Given the description of an element on the screen output the (x, y) to click on. 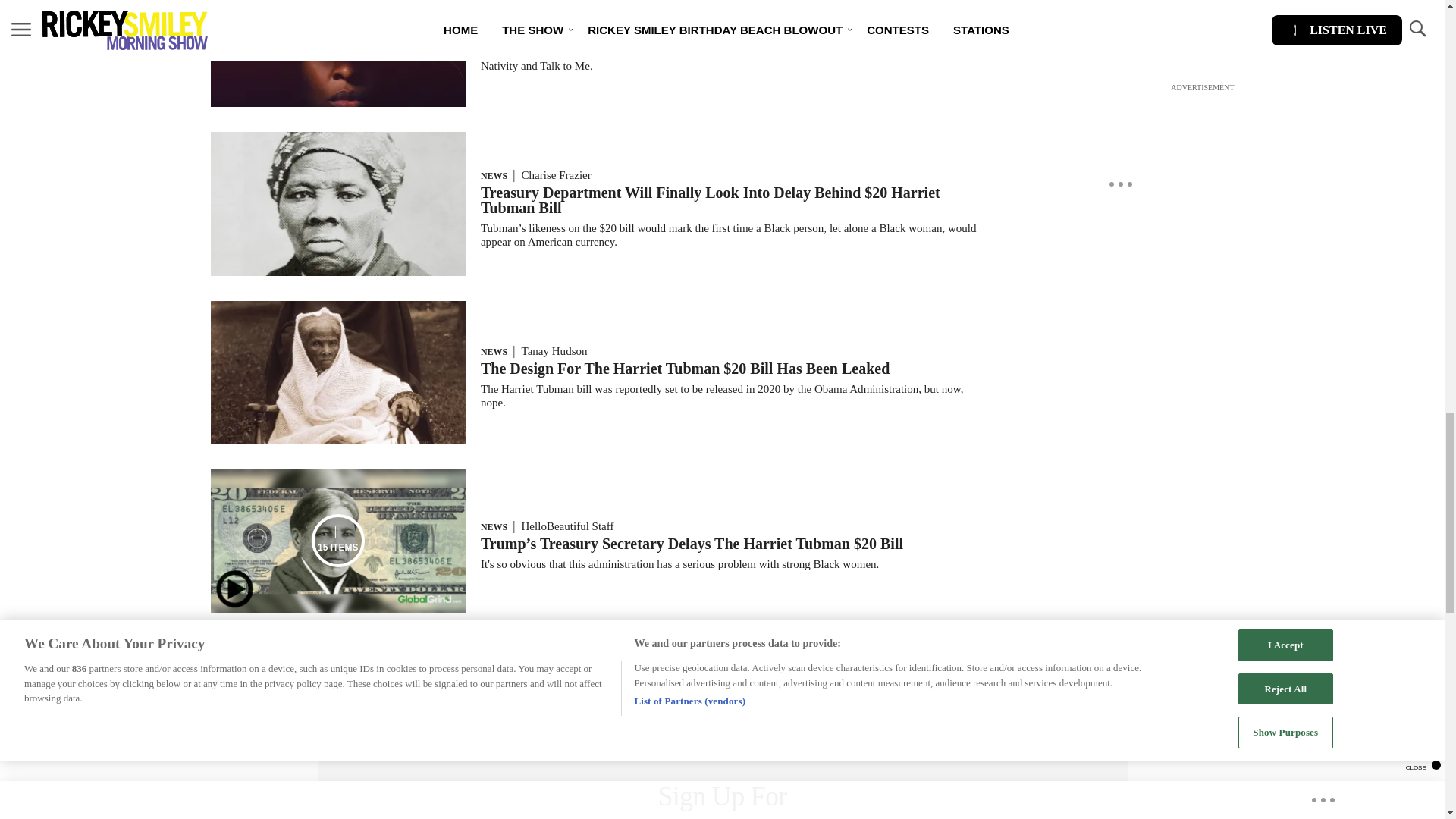
ENTERTAINMENT NEWS (534, 14)
Media Playlist (338, 540)
